Given the description of an element on the screen output the (x, y) to click on. 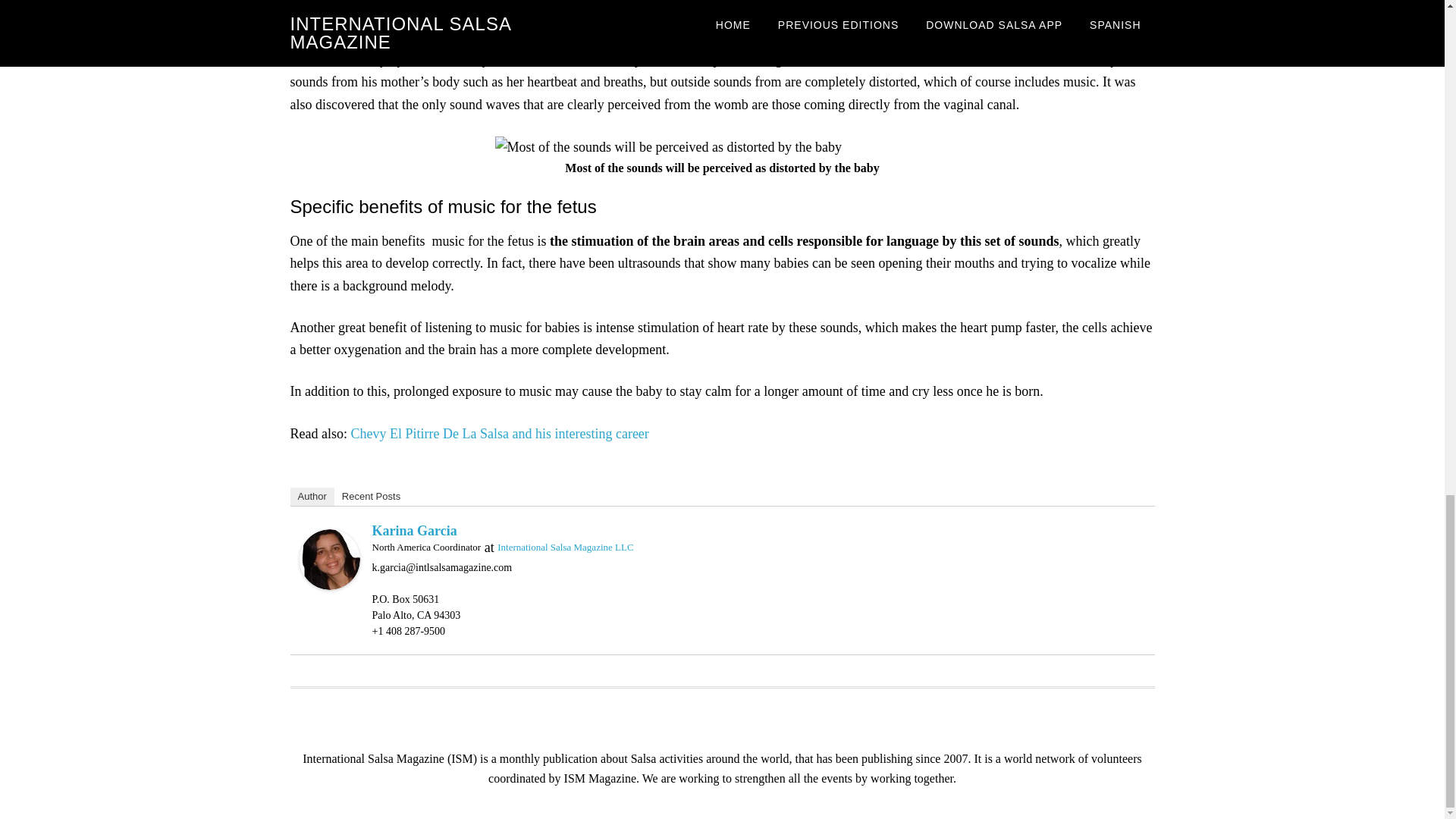
Karina Garcia (328, 557)
